Given the description of an element on the screen output the (x, y) to click on. 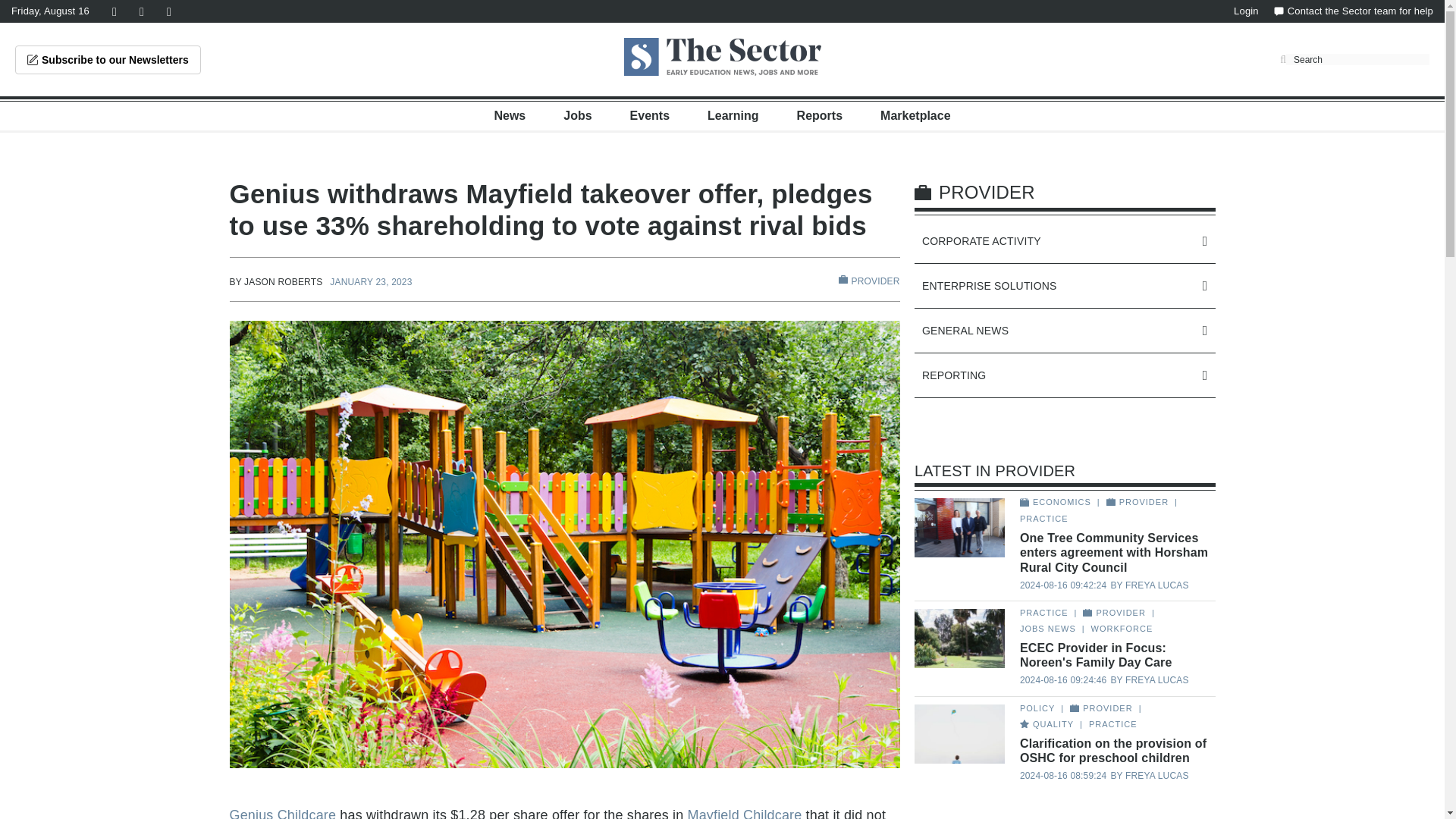
Genius Childcare (282, 813)
Reports (819, 115)
Mayfield Childcare (744, 813)
Learning (732, 115)
Events (649, 115)
Subscribe to our Newsletters (107, 59)
Marketplace (915, 115)
FILL 11 COPY 7 CREATED WITH SKETCH. PROVIDER (868, 280)
Contact the Sector team for help (1353, 11)
Login (1246, 11)
